Given the description of an element on the screen output the (x, y) to click on. 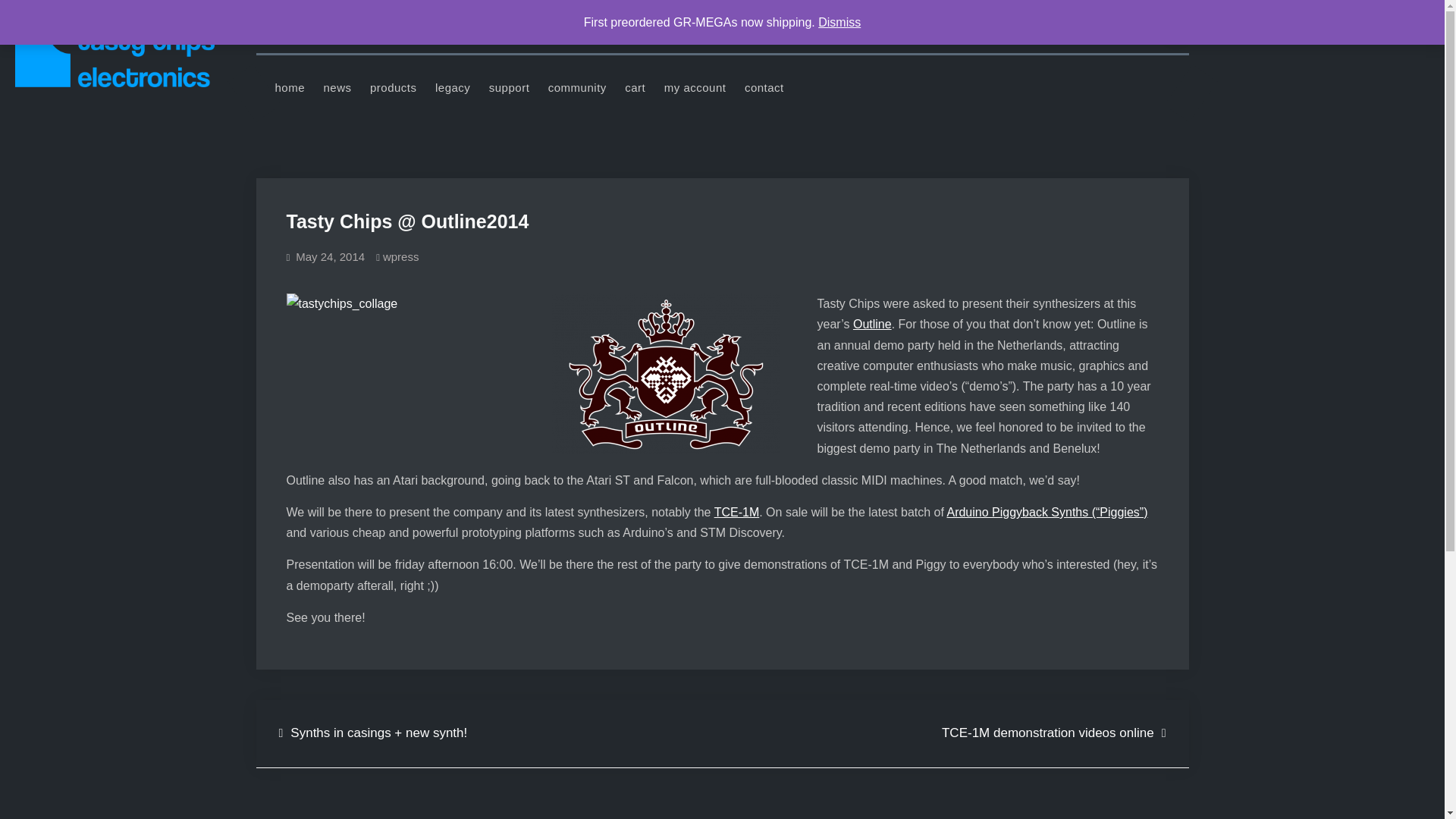
Tasty Chips Electronics (336, 58)
Outline (872, 323)
Youtube (1105, 28)
my account (694, 87)
wpress (400, 256)
legacy (452, 87)
May 24, 2014 (330, 256)
cart (634, 87)
Facebook (1138, 28)
community (577, 87)
news (336, 87)
TCE-1M (737, 512)
TCE-1M demonstration videos online (1054, 733)
contact (764, 87)
products (393, 87)
